Given the description of an element on the screen output the (x, y) to click on. 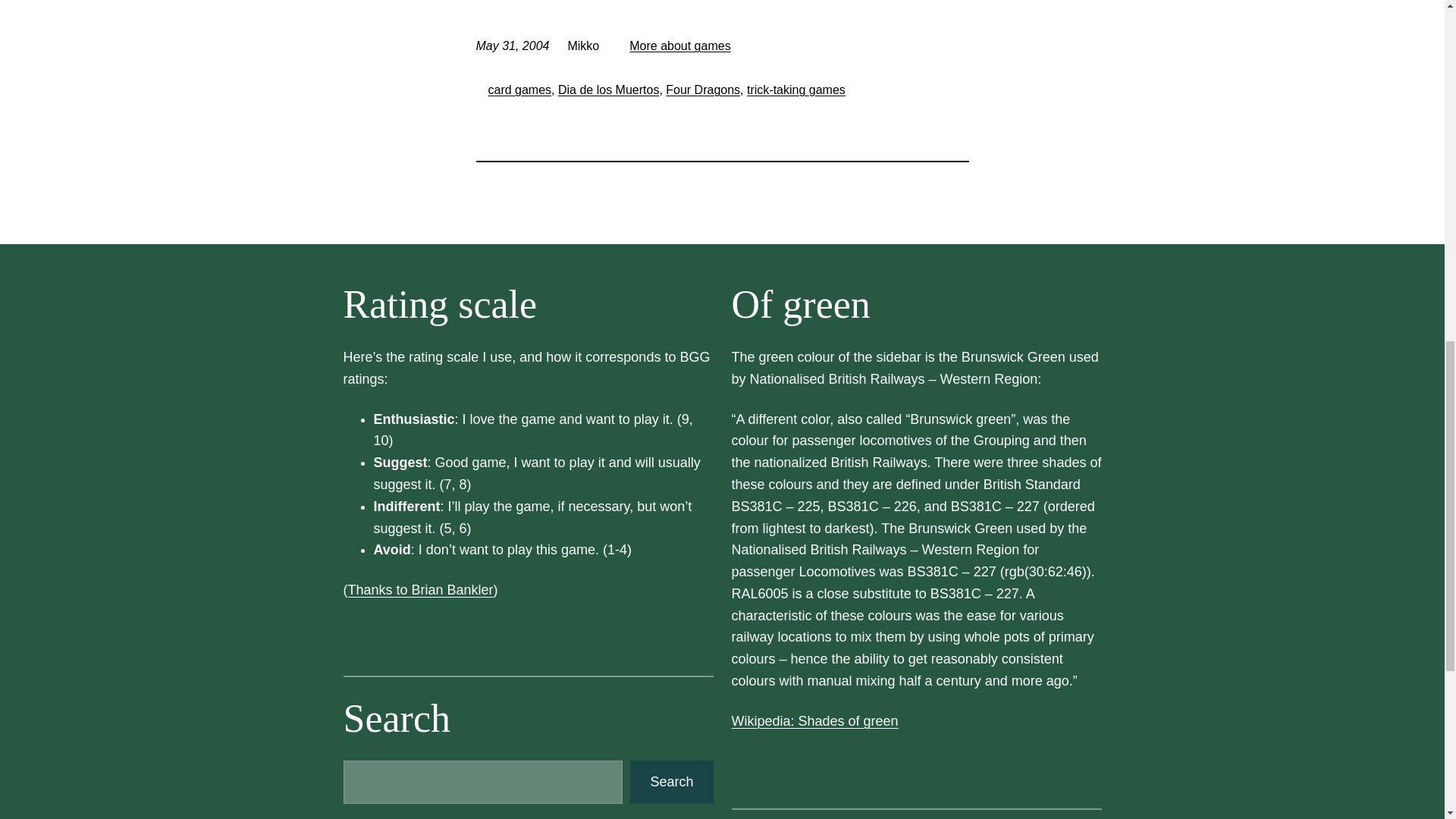
Thanks to Brian Bankler (420, 589)
Search (671, 781)
Four Dragons (702, 89)
More about games (679, 45)
card games (519, 89)
trick-taking games (795, 89)
Dia de los Muertos (608, 89)
Wikipedia: Shades of green (814, 720)
